Given the description of an element on the screen output the (x, y) to click on. 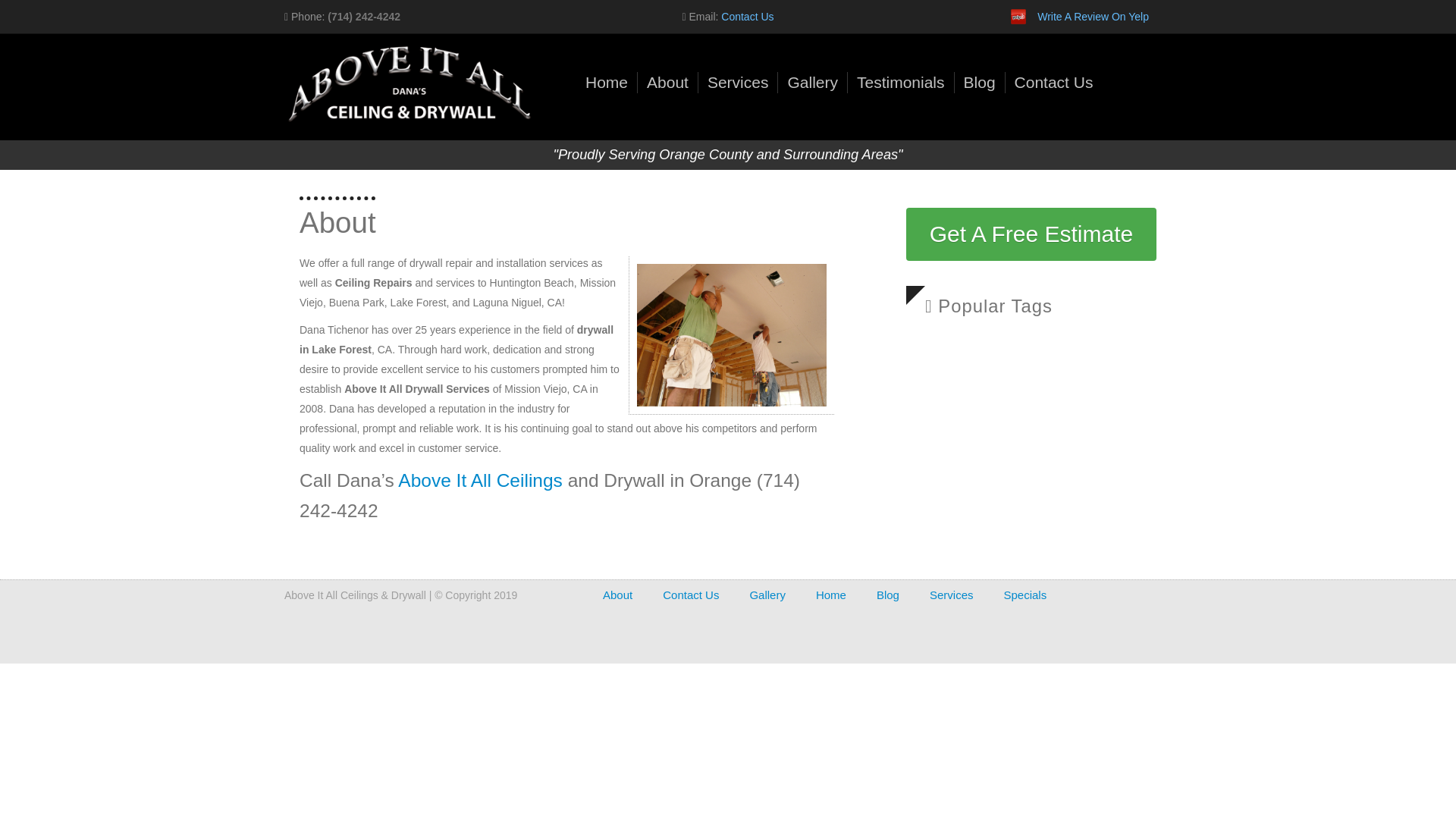
Contact Us (746, 16)
Get A Free Estimate (1030, 234)
Gallery (767, 594)
Home (830, 594)
Services (952, 594)
About (667, 81)
Contact Us (1053, 81)
Blog (979, 81)
Above It All Ceilings (479, 480)
Blog (887, 594)
Testimonials (900, 81)
Specials (1025, 594)
Contact Us (690, 594)
Home (606, 81)
Gallery (812, 81)
